Given the description of an element on the screen output the (x, y) to click on. 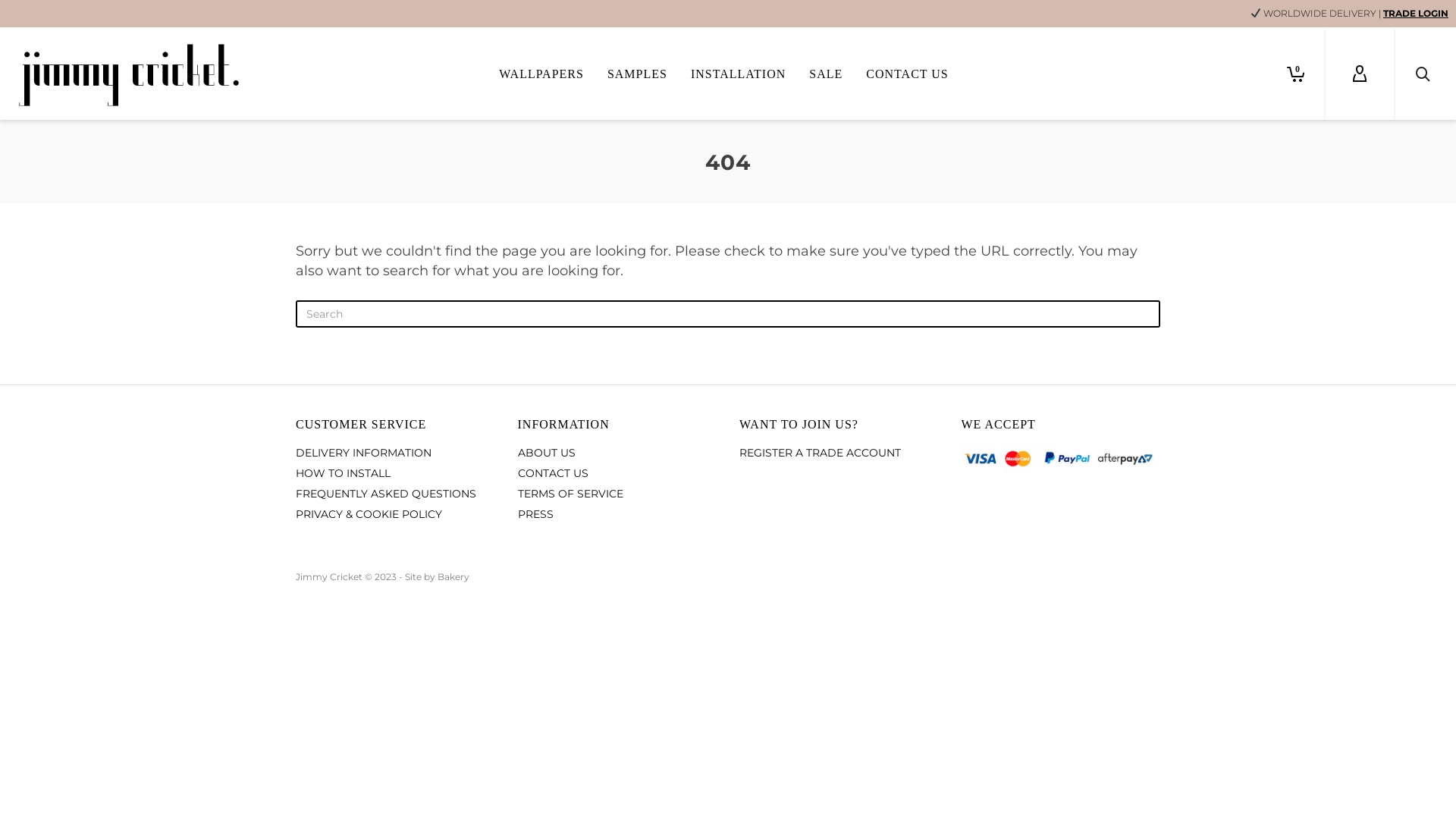
HOW TO INSTALL Element type: text (395, 473)
0 Element type: text (1290, 73)
SAMPLES Element type: text (637, 73)
DELIVERY INFORMATION Element type: text (395, 452)
WALLPAPERS Element type: text (541, 73)
INSTALLATION Element type: text (738, 73)
PRIVACY & COOKIE POLICY Element type: text (395, 514)
SALE Element type: text (825, 73)
TRADE LOGIN Element type: text (1415, 12)
CONTACT US Element type: text (906, 73)
ABOUT US Element type: text (616, 452)
Bakery Element type: text (453, 576)
PRESS Element type: text (616, 514)
FREQUENTLY ASKED QUESTIONS Element type: text (395, 493)
TERMS OF SERVICE Element type: text (616, 493)
CONTACT US Element type: text (616, 473)
REGISTER A TRADE ACCOUNT Element type: text (838, 452)
